Given the description of an element on the screen output the (x, y) to click on. 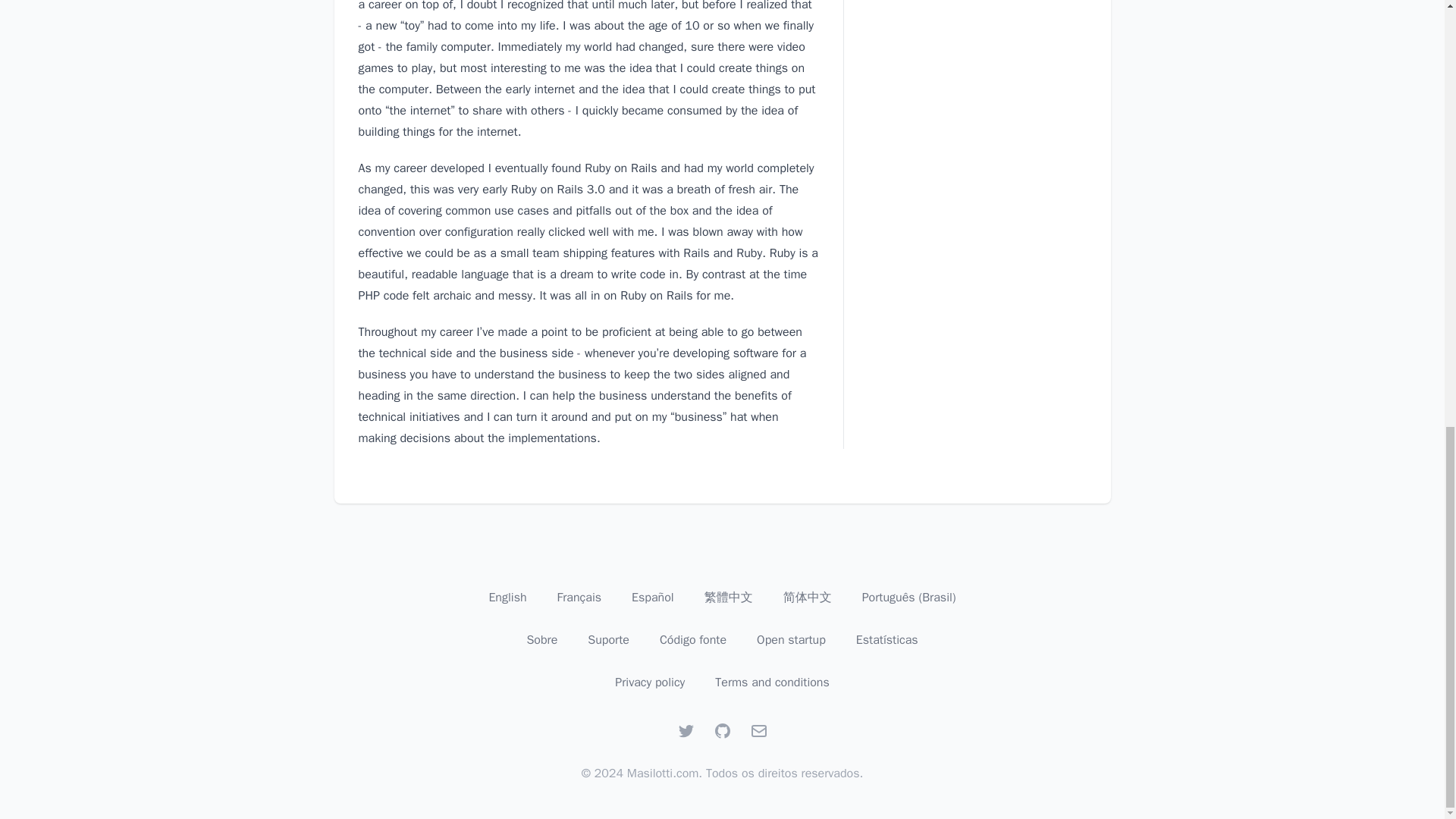
E-mail (758, 730)
GitHub logo (721, 730)
Terms and conditions (771, 682)
Open startup (791, 639)
Privacy policy (649, 682)
Masilotti.com (662, 773)
Suporte (608, 639)
English (506, 597)
Sobre (541, 639)
Twitter (685, 730)
